Given the description of an element on the screen output the (x, y) to click on. 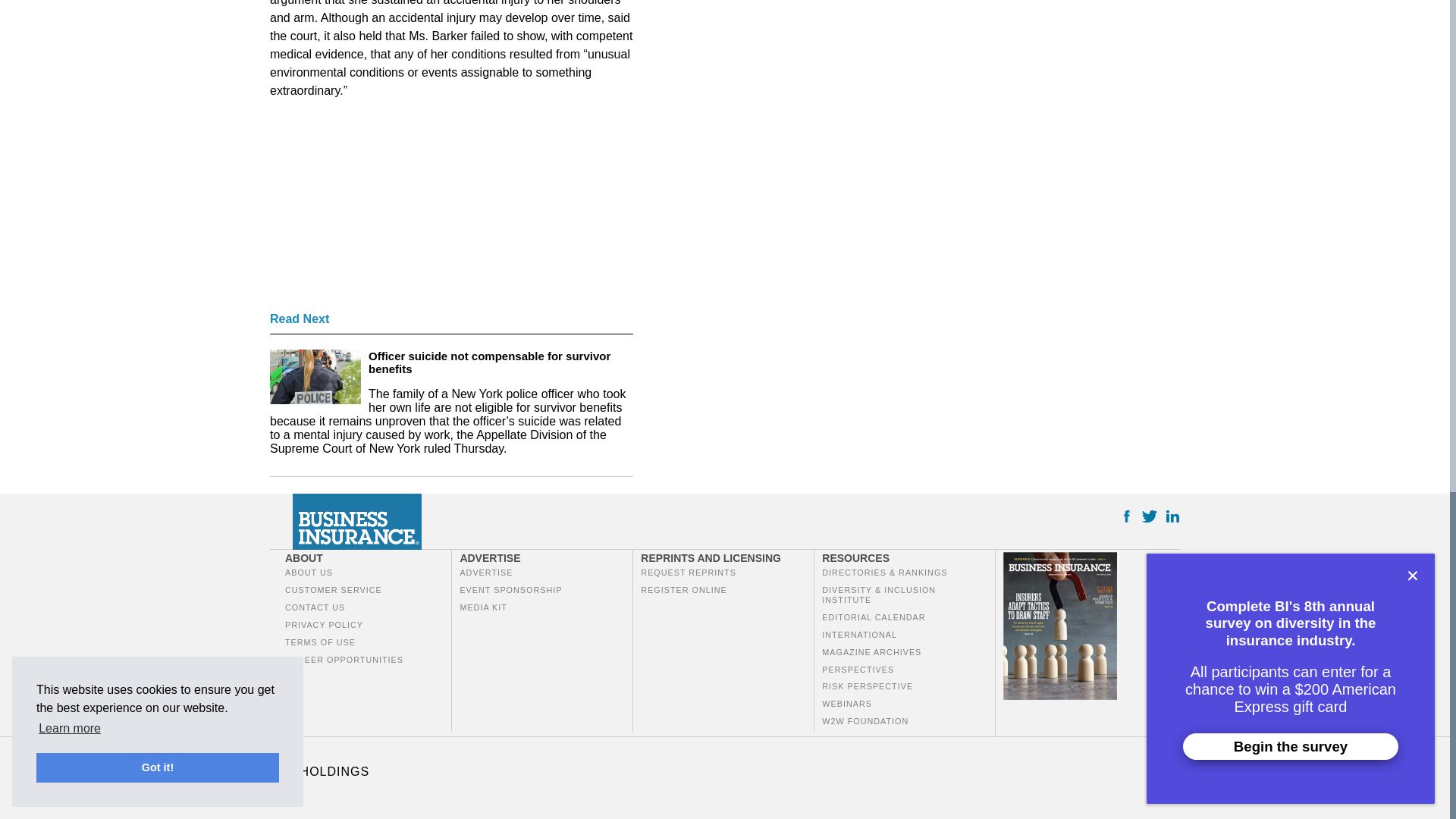
3rd party ad content (383, 209)
